Given the description of an element on the screen output the (x, y) to click on. 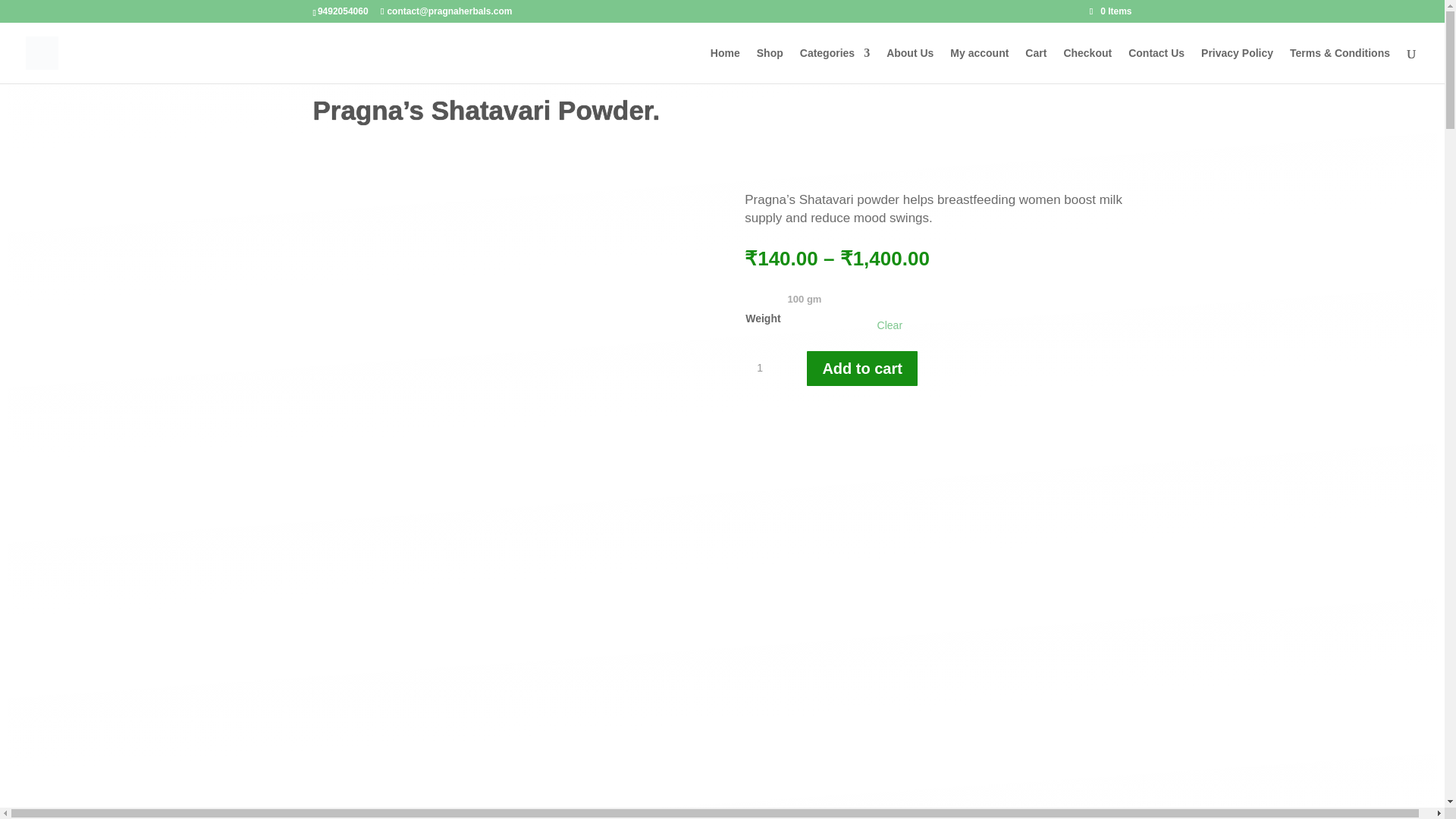
About Us (909, 65)
0 Items (1110, 10)
Add to cart (861, 368)
Privacy Policy (1236, 65)
1 (767, 368)
Checkout (1087, 65)
My account (979, 65)
Clear (889, 325)
Categories (834, 65)
Contact Us (1156, 65)
